Given the description of an element on the screen output the (x, y) to click on. 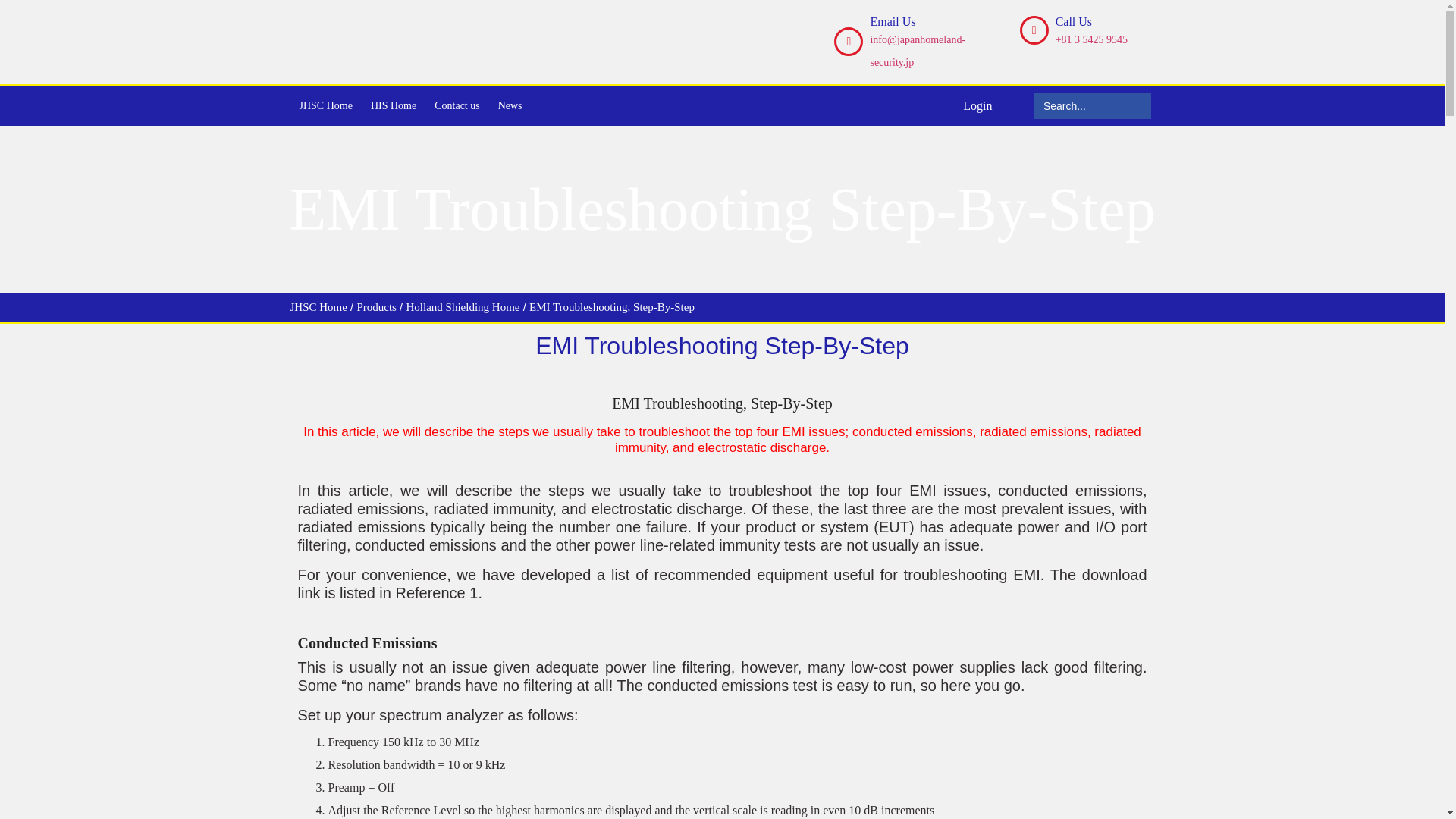
JHSC Home (317, 306)
Contact us (457, 106)
Login (976, 105)
JHSC Home (325, 106)
Holland Shielding Home (462, 306)
Email Us (892, 21)
HIS Home (393, 106)
News (510, 106)
Call Us (1073, 21)
Products (376, 306)
